Given the description of an element on the screen output the (x, y) to click on. 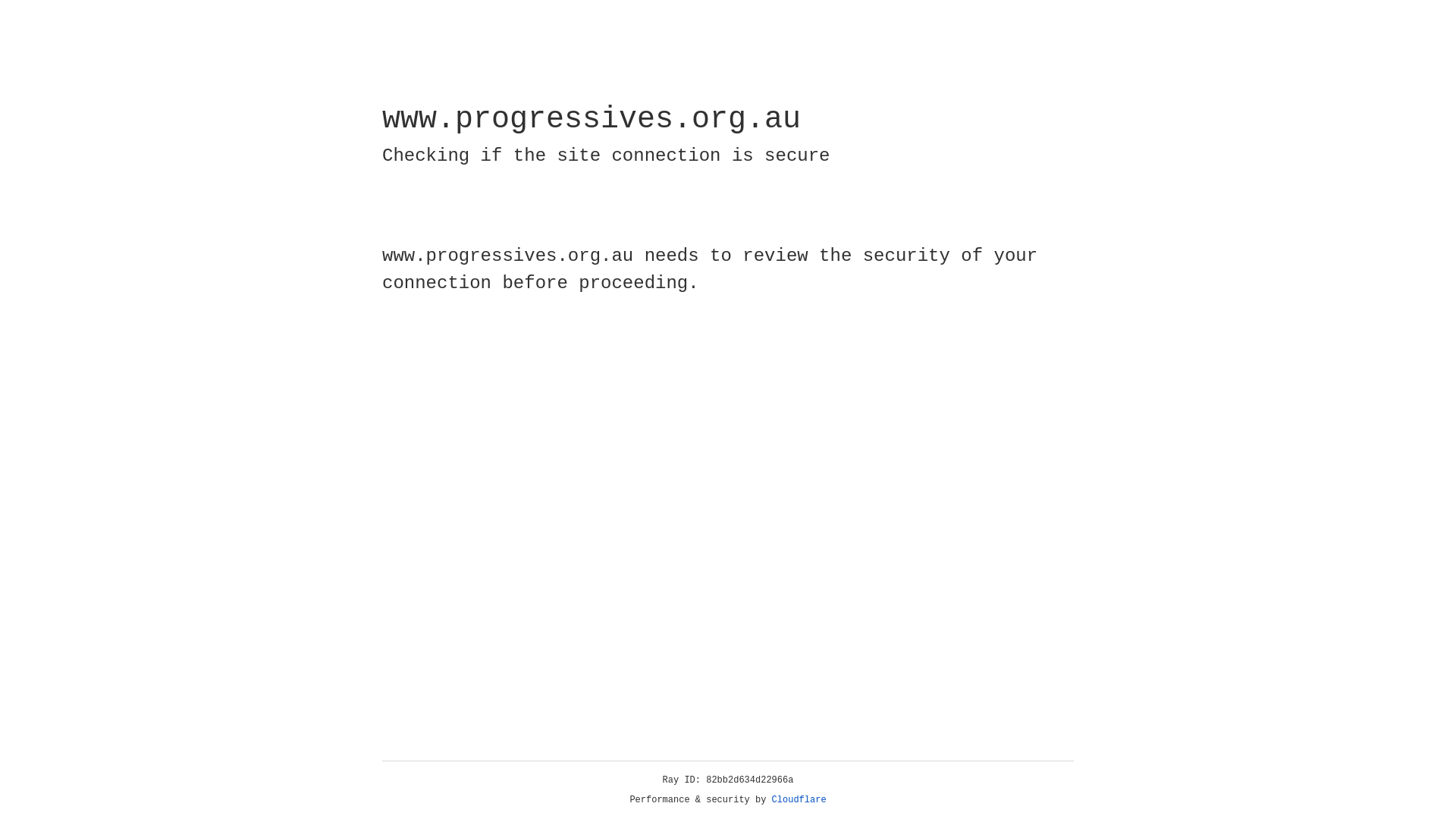
Cloudflare Element type: text (798, 799)
